Given the description of an element on the screen output the (x, y) to click on. 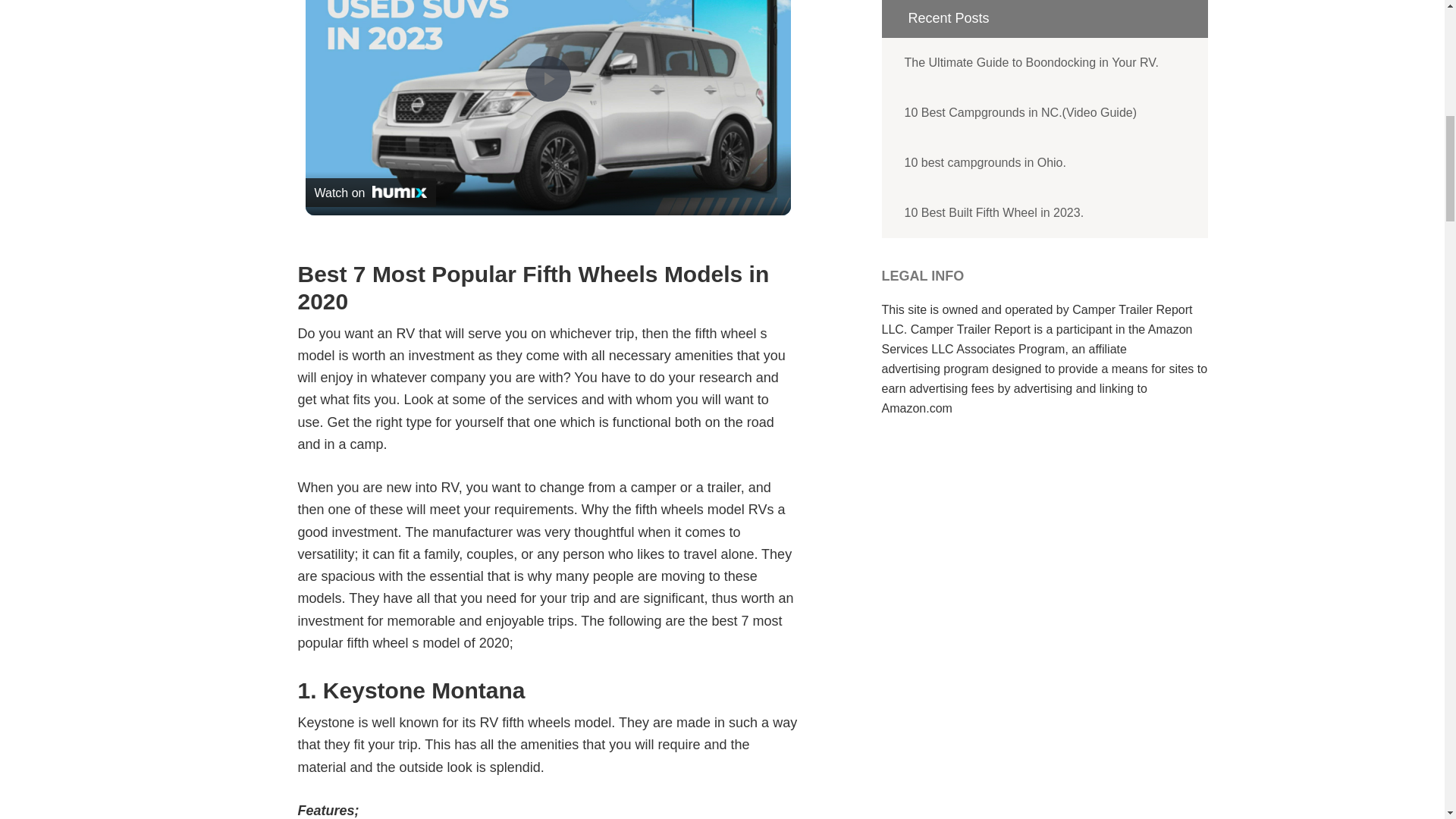
Watch on (369, 191)
The Ultimate Guide to Boondocking in Your RV. (1043, 62)
Play Video (547, 78)
Play Video (547, 78)
